Given the description of an element on the screen output the (x, y) to click on. 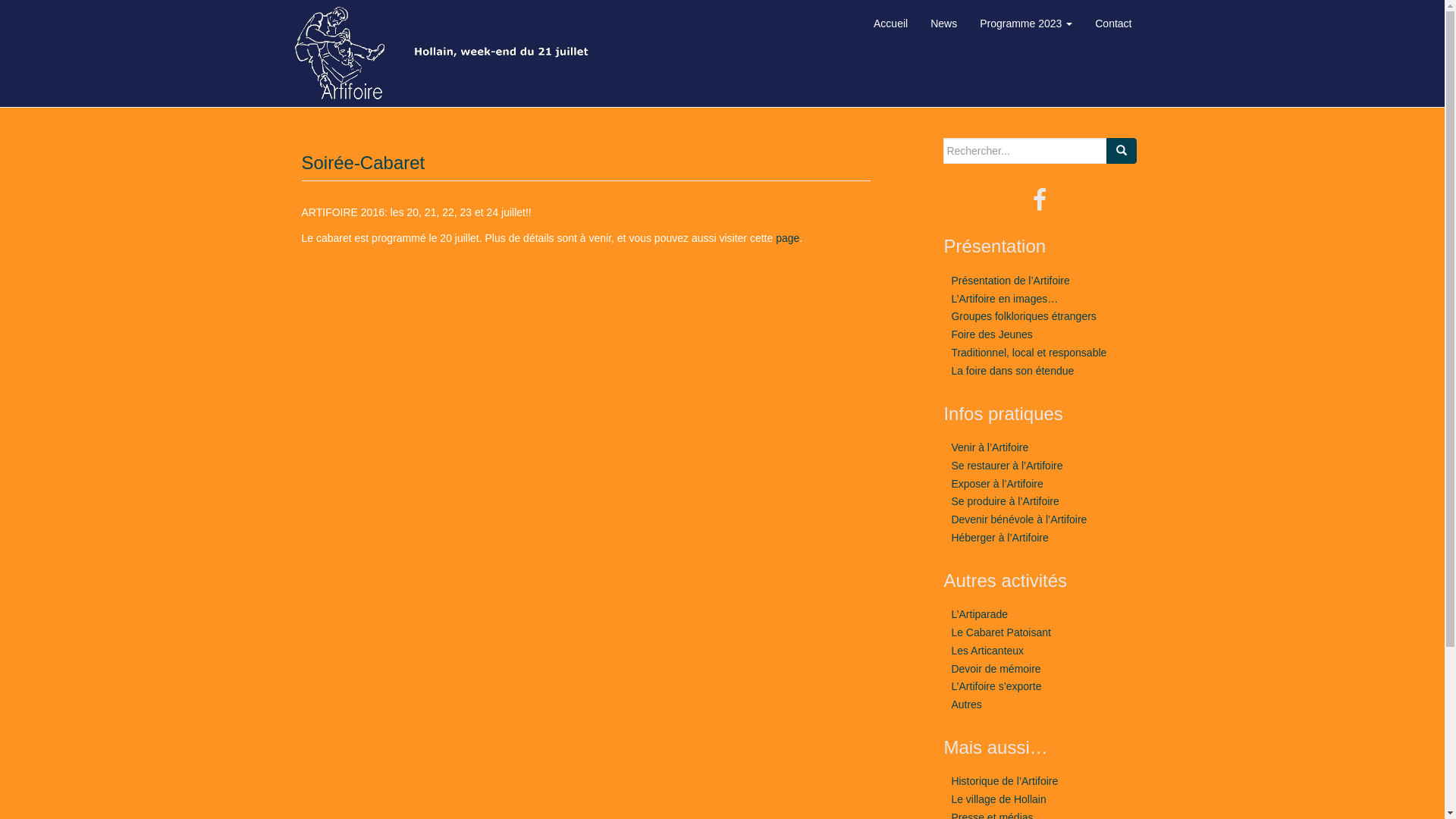
page Element type: text (787, 238)
Le village de Hollain Element type: text (997, 799)
Autres Element type: text (965, 704)
Le Cabaret Patoisant Element type: text (1000, 632)
Traditionnel, local et responsable Element type: text (1028, 352)
Search Element type: text (1120, 150)
Les Articanteux Element type: text (986, 650)
Foire des Jeunes Element type: text (991, 334)
